Given the description of an element on the screen output the (x, y) to click on. 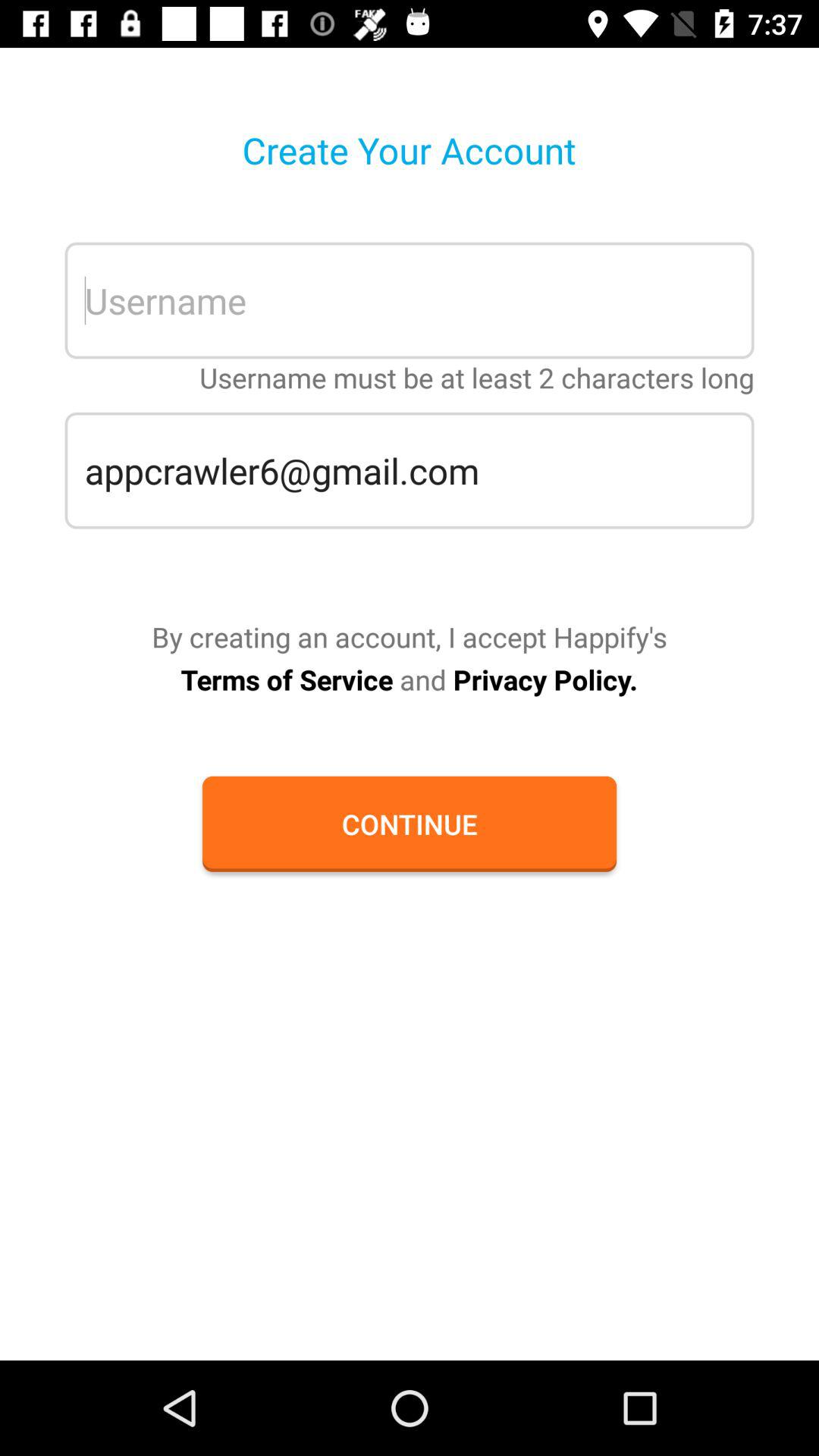
click item below username must be (409, 470)
